Given the description of an element on the screen output the (x, y) to click on. 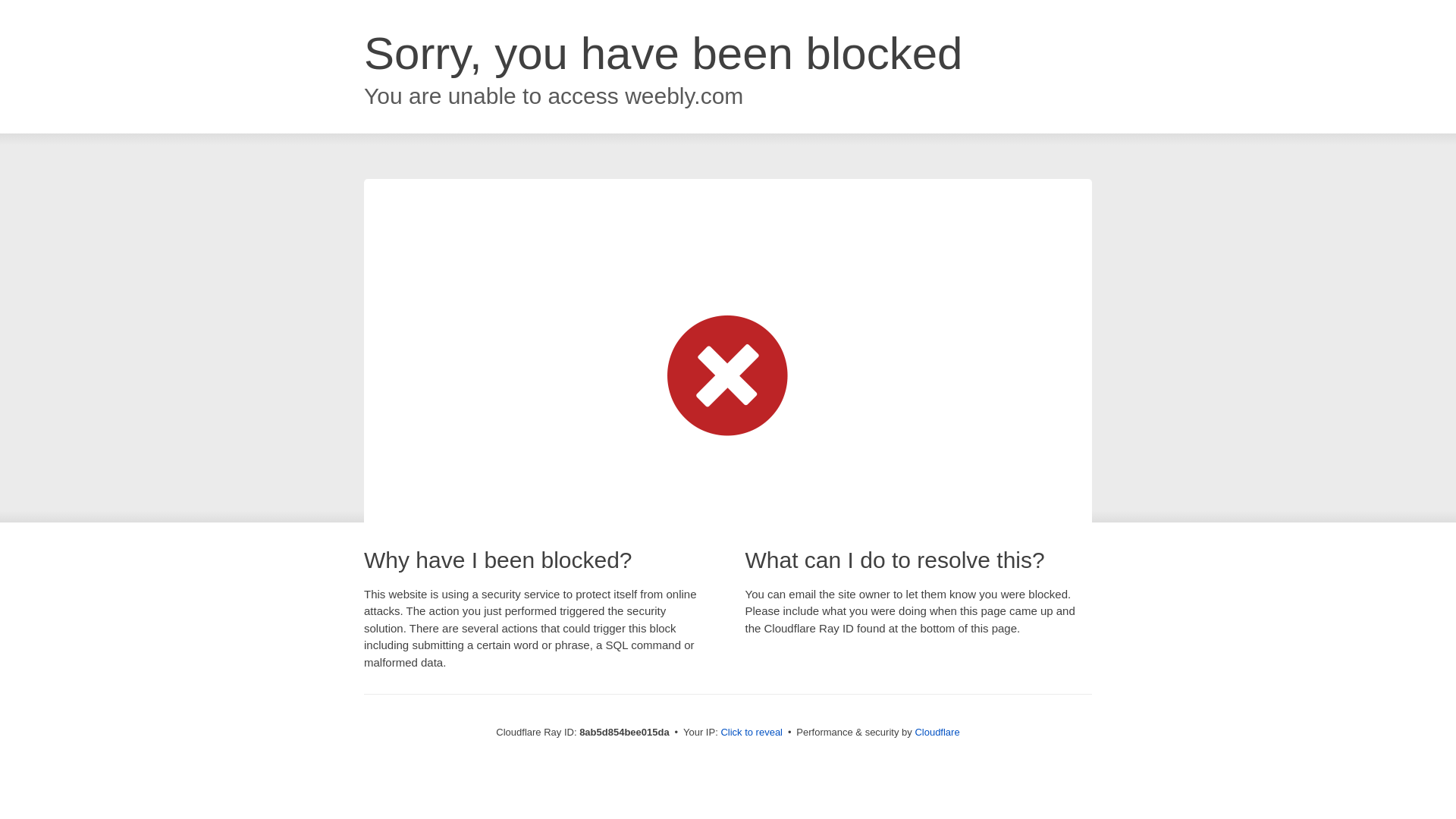
Cloudflare (936, 731)
Click to reveal (751, 732)
